Given the description of an element on the screen output the (x, y) to click on. 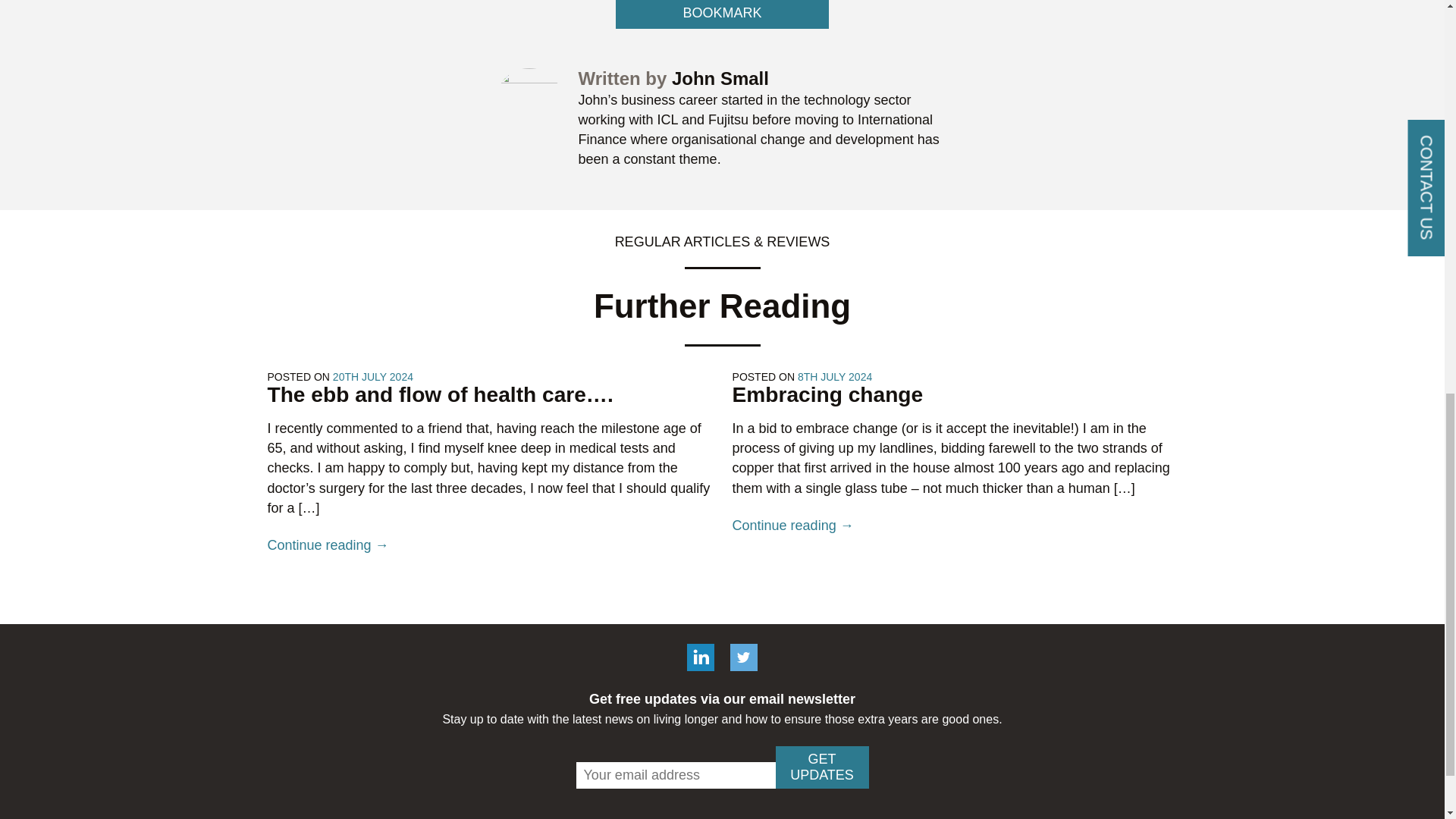
8:00 am (373, 377)
BOOKMARK (721, 14)
20TH JULY 2024 (373, 377)
Permalink to Embracing change (827, 394)
8TH JULY 2024 (834, 377)
Embracing change (827, 394)
GET UPDATES (820, 767)
3:45 pm (834, 377)
Permalink to The second Big challenge (721, 14)
